Given the description of an element on the screen output the (x, y) to click on. 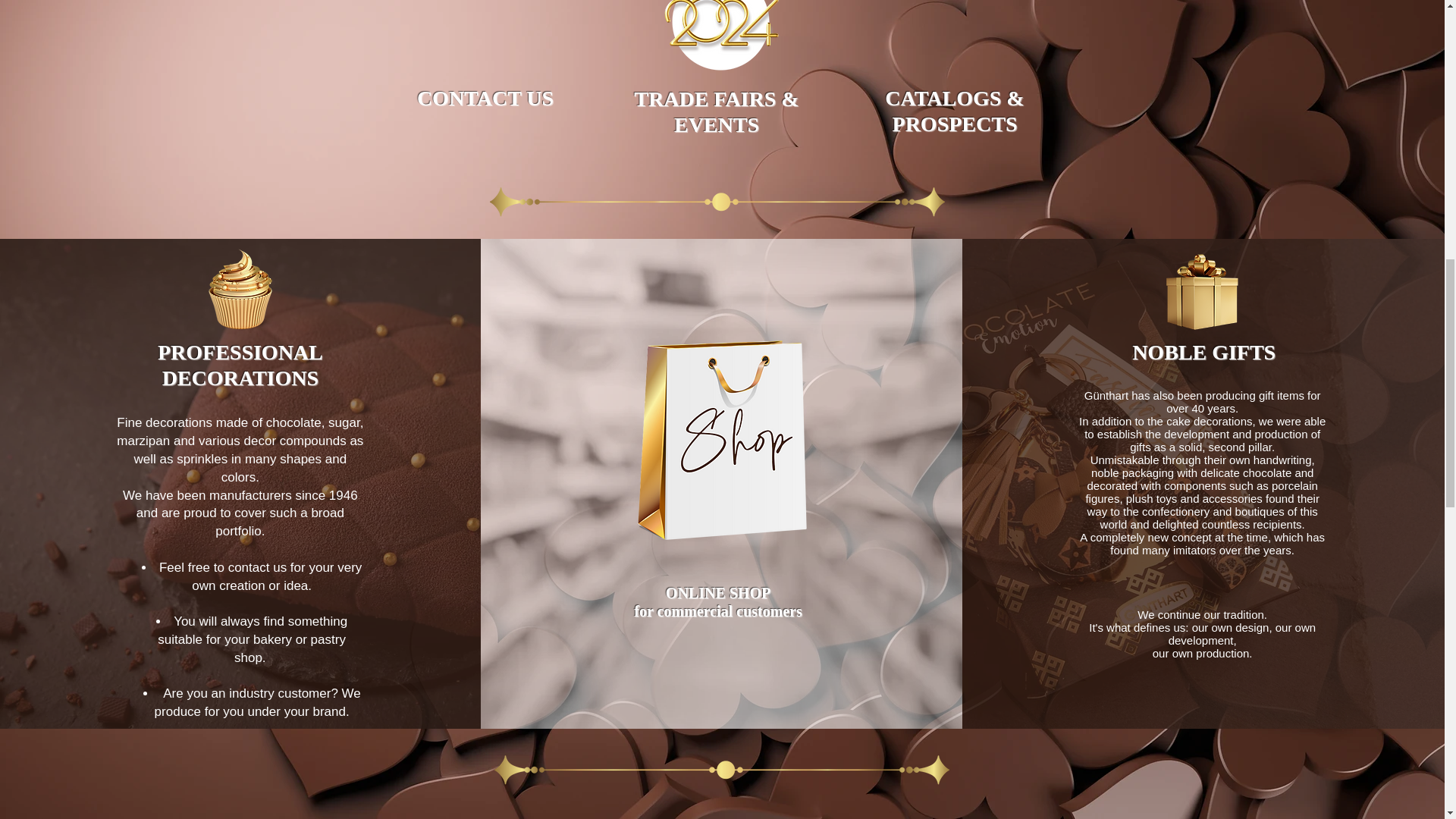
line.png (716, 201)
line.png (722, 769)
cupcake.png (239, 289)
gift.png (1201, 289)
year.png (717, 48)
